Given the description of an element on the screen output the (x, y) to click on. 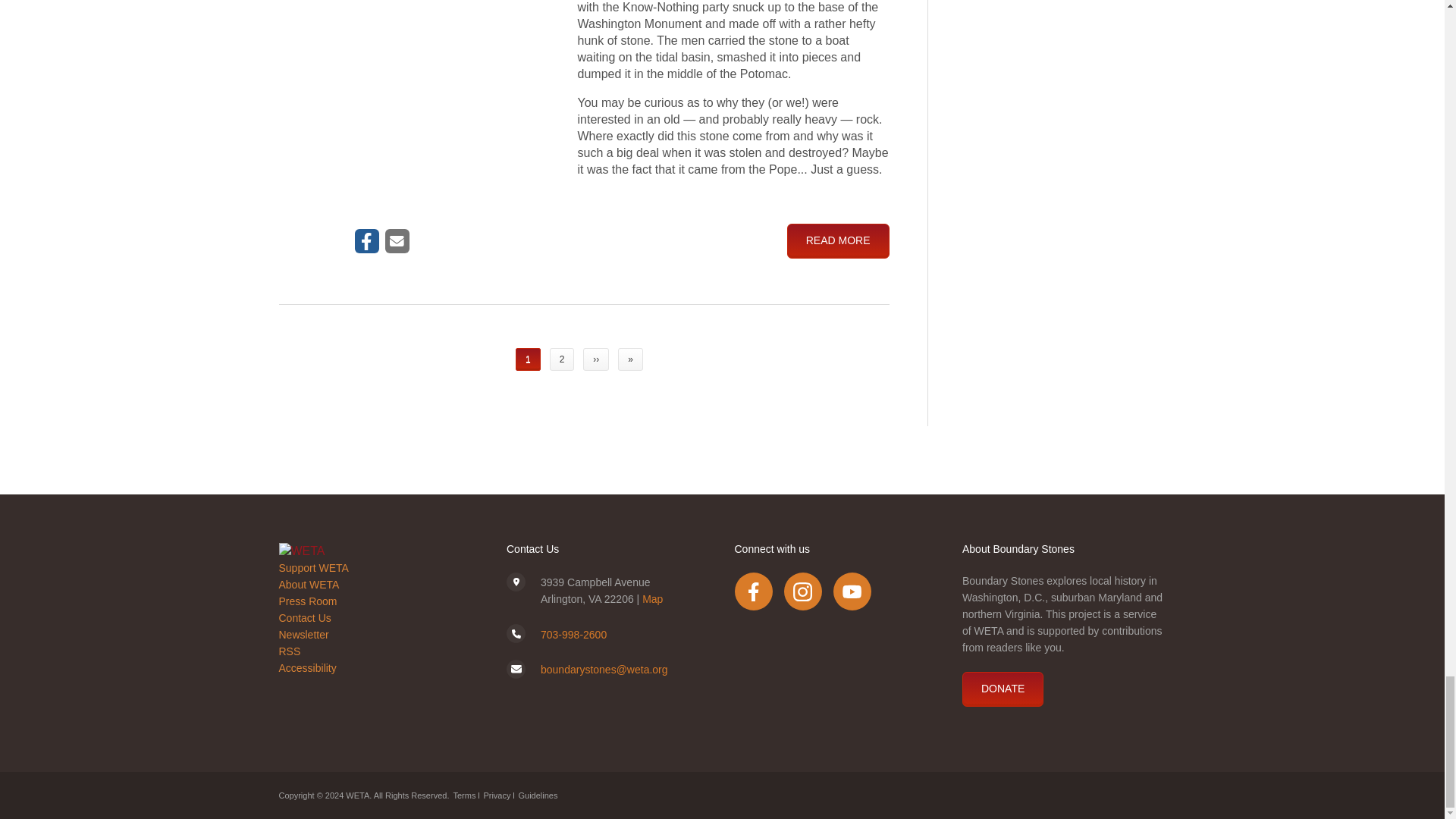
Go to next page (595, 359)
Current page (527, 359)
Go to page 2 (562, 359)
Go to last page (630, 359)
